Given the description of an element on the screen output the (x, y) to click on. 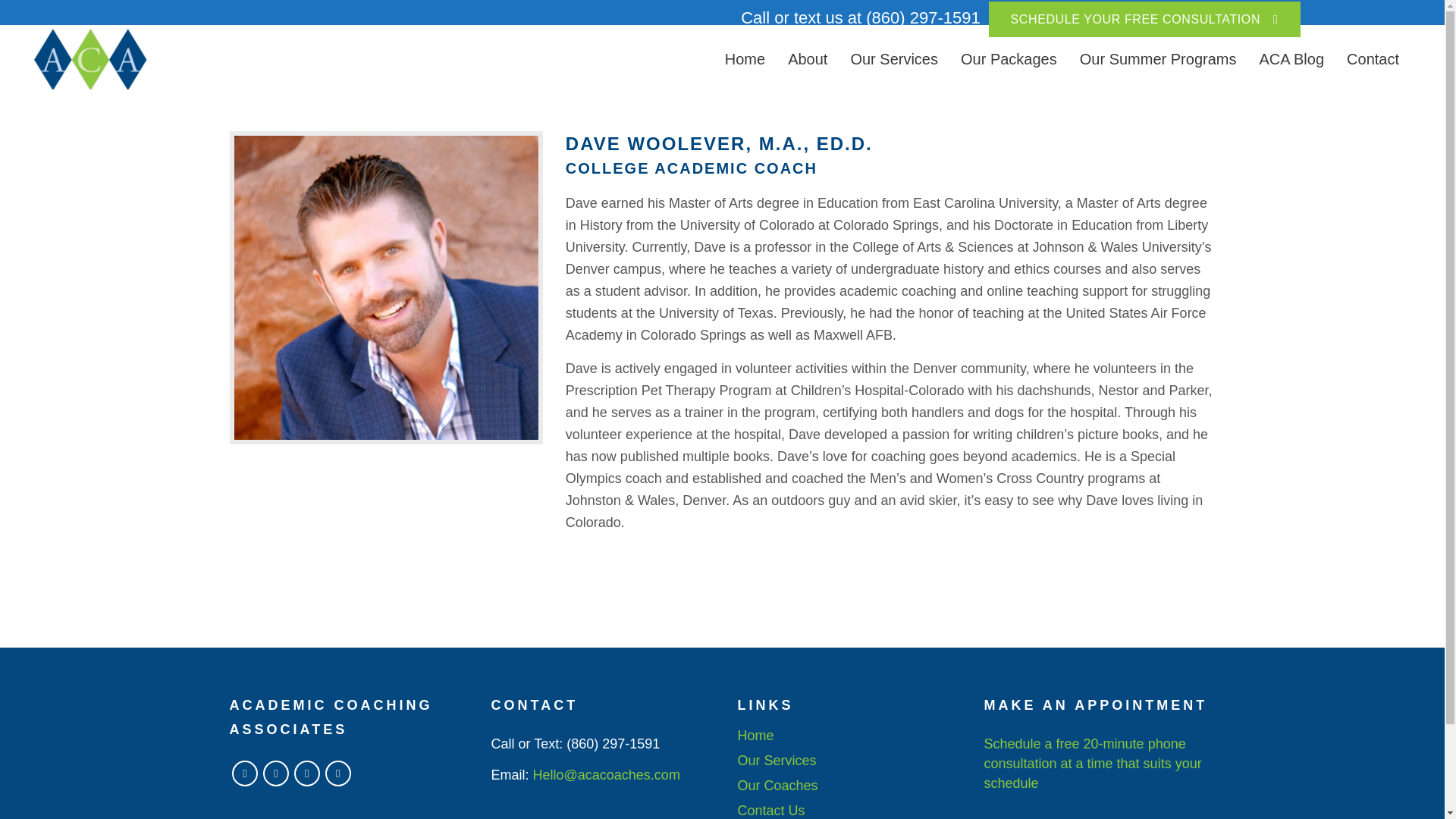
Home (744, 59)
About (807, 59)
Our Services (893, 59)
Our Packages (1008, 59)
SCHEDULE YOUR FREE CONSULTATION (1144, 18)
ACA Blog (1291, 59)
Contact (1372, 59)
Our Summer Programs (1157, 59)
coach-dave-woolever (384, 287)
